Given the description of an element on the screen output the (x, y) to click on. 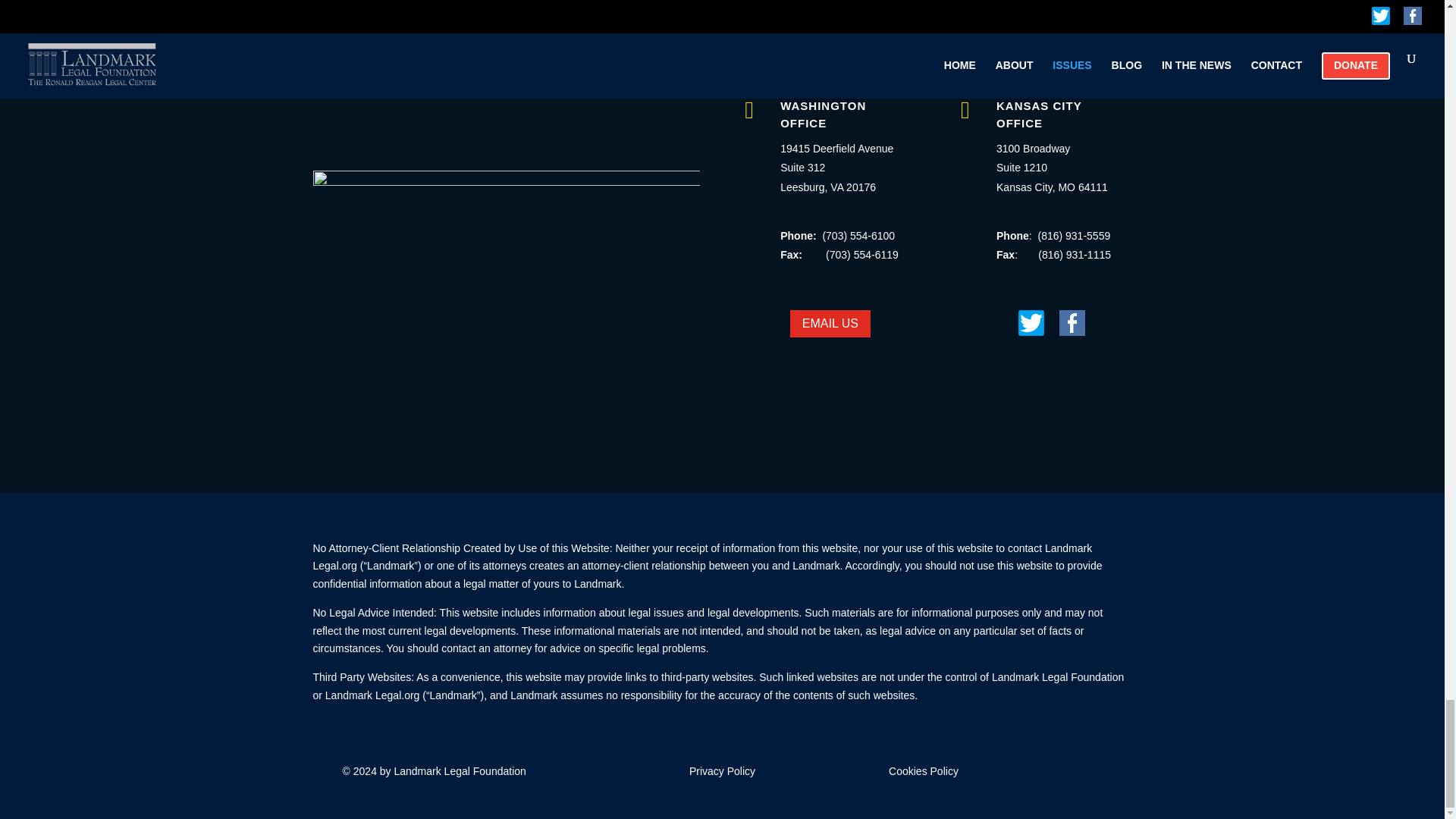
facebook (1071, 322)
Landmark Logo grey2 (506, 91)
Landmark-Legal-footer (505, 299)
Twitter-logo (1030, 322)
